Given the description of an element on the screen output the (x, y) to click on. 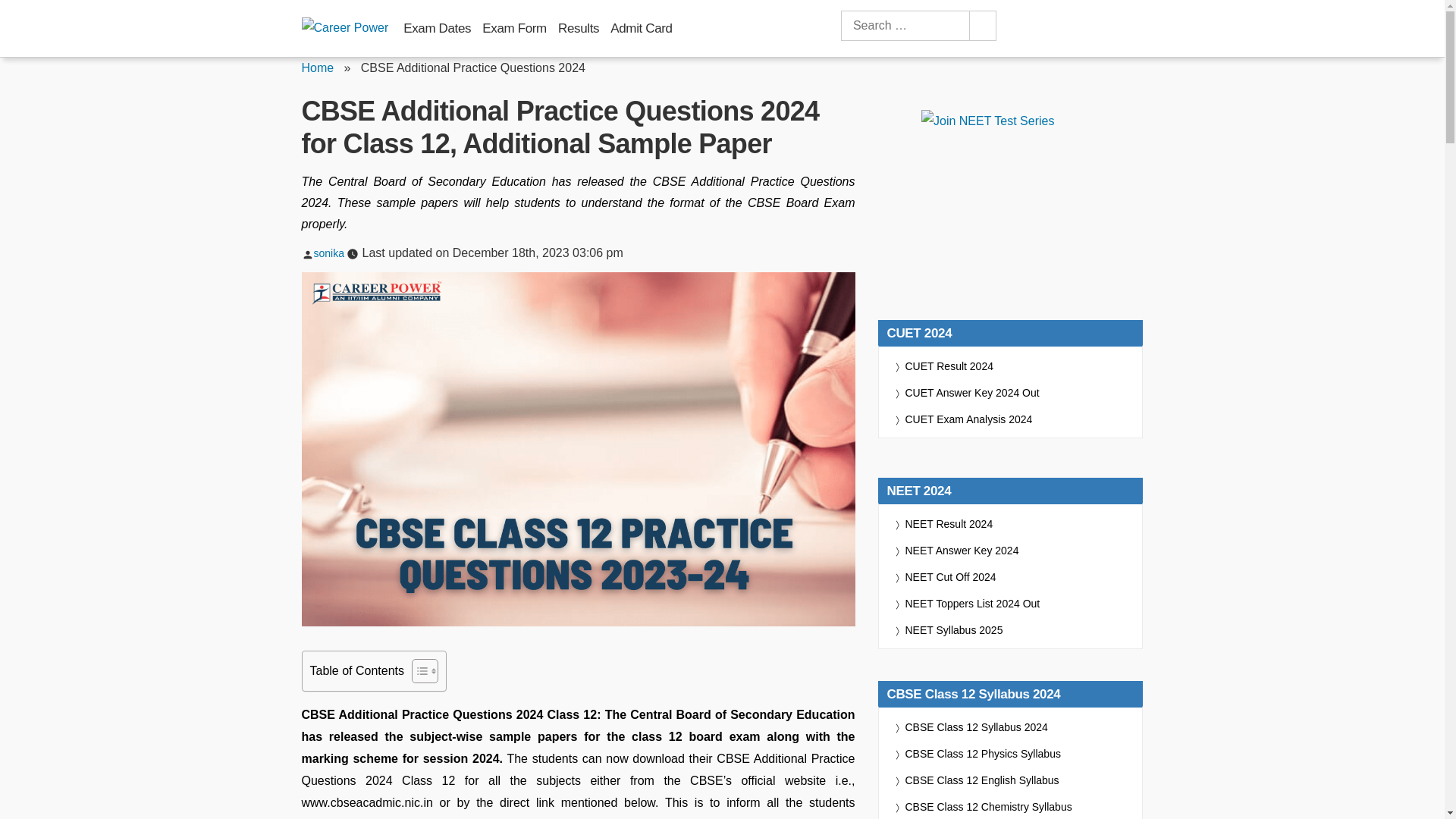
Home (317, 67)
Search (980, 25)
Search (980, 25)
Search (980, 25)
sonika (328, 253)
Admit Card (640, 28)
Exam Dates (436, 28)
Exam Form (514, 28)
